Given the description of an element on the screen output the (x, y) to click on. 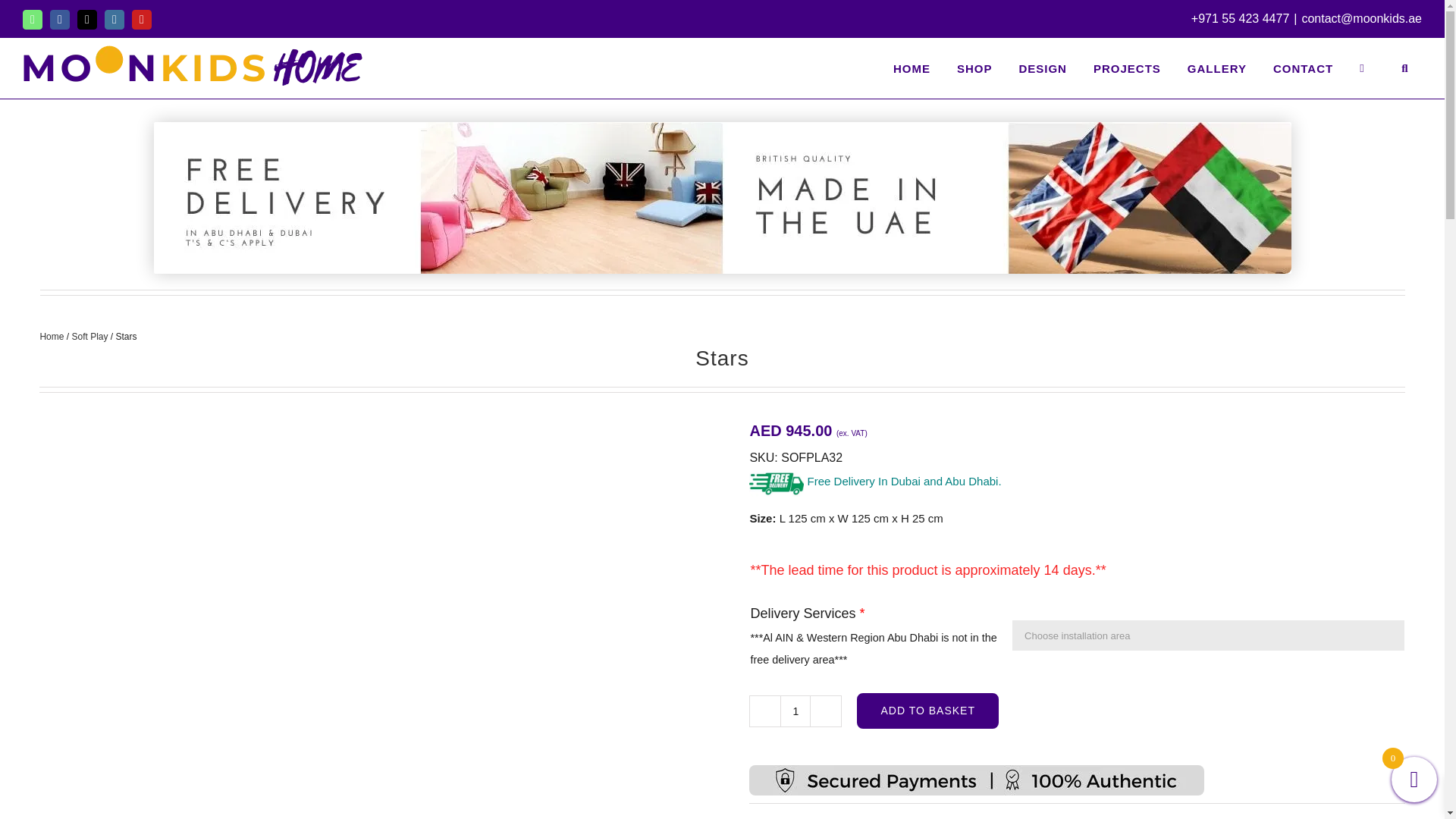
X (87, 19)
Facebook (59, 19)
Instagram (113, 19)
Instagram (113, 19)
YouTube (141, 19)
HOME (911, 67)
SHOP (974, 67)
X (87, 19)
WhatsApp (32, 19)
Facebook (59, 19)
